Given the description of an element on the screen output the (x, y) to click on. 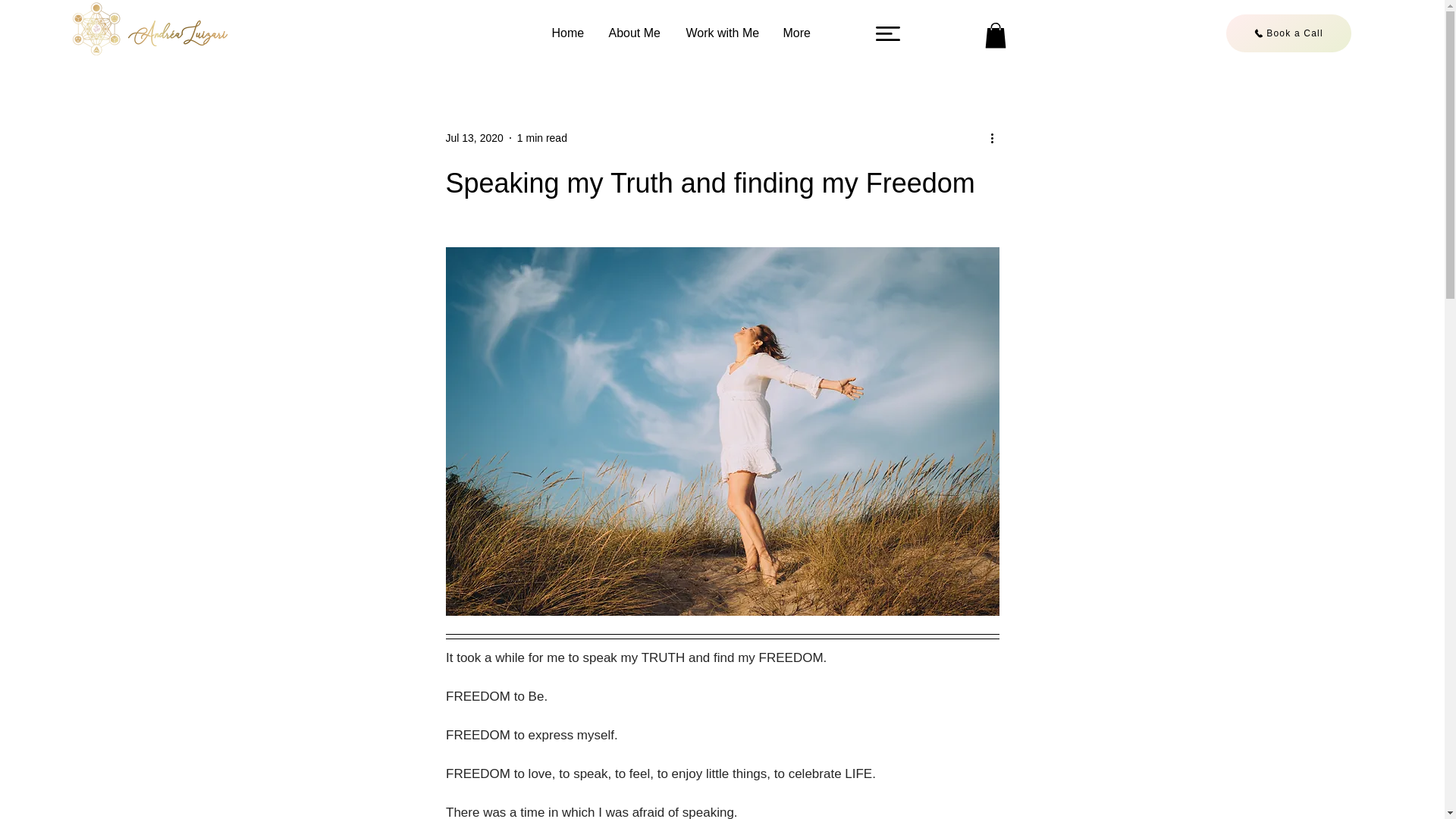
Work with Me (723, 33)
About Me (635, 33)
1 min read (541, 137)
Book a Call (1288, 33)
Jul 13, 2020 (474, 137)
Home (568, 33)
